Given the description of an element on the screen output the (x, y) to click on. 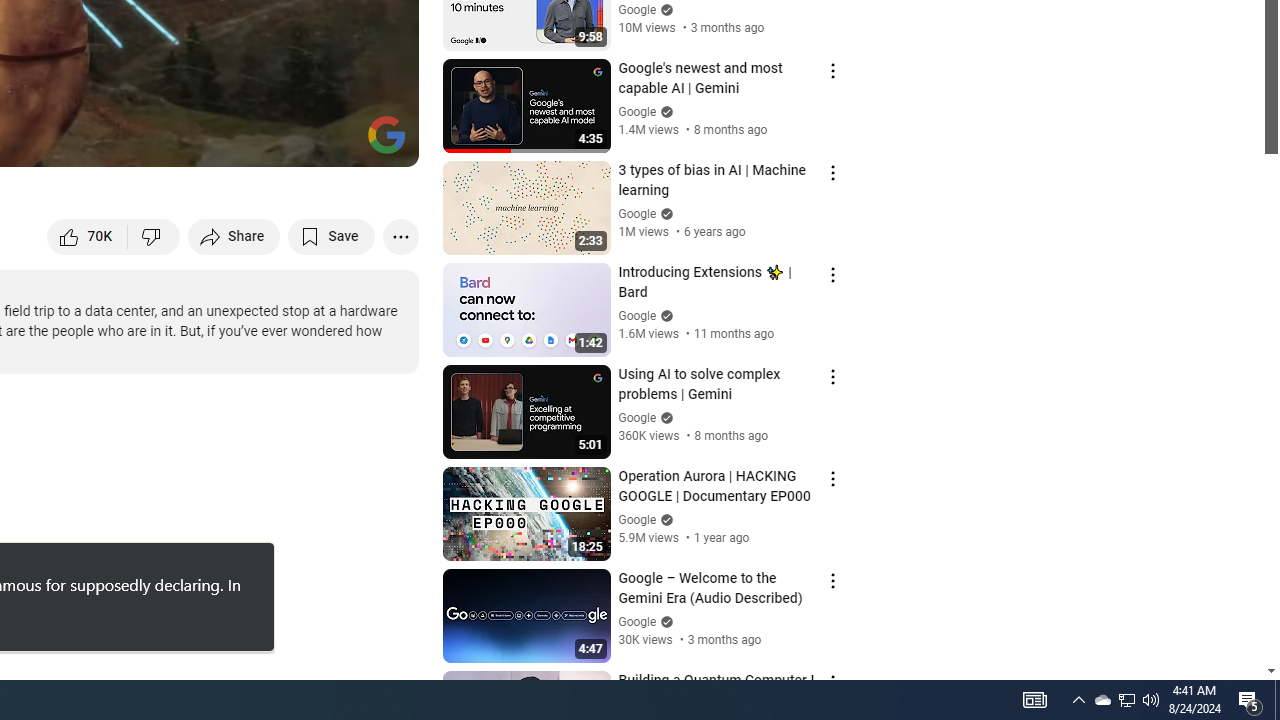
Full screen (f) (382, 142)
Verified (664, 621)
Channel watermark (386, 134)
Dislike this video (154, 236)
Miniplayer (i) (286, 142)
Settings (237, 142)
Share (234, 236)
Autoplay is on (141, 142)
like this video along with 70,975 other people (88, 236)
Theater mode (t) (333, 142)
Action menu (832, 682)
